Given the description of an element on the screen output the (x, y) to click on. 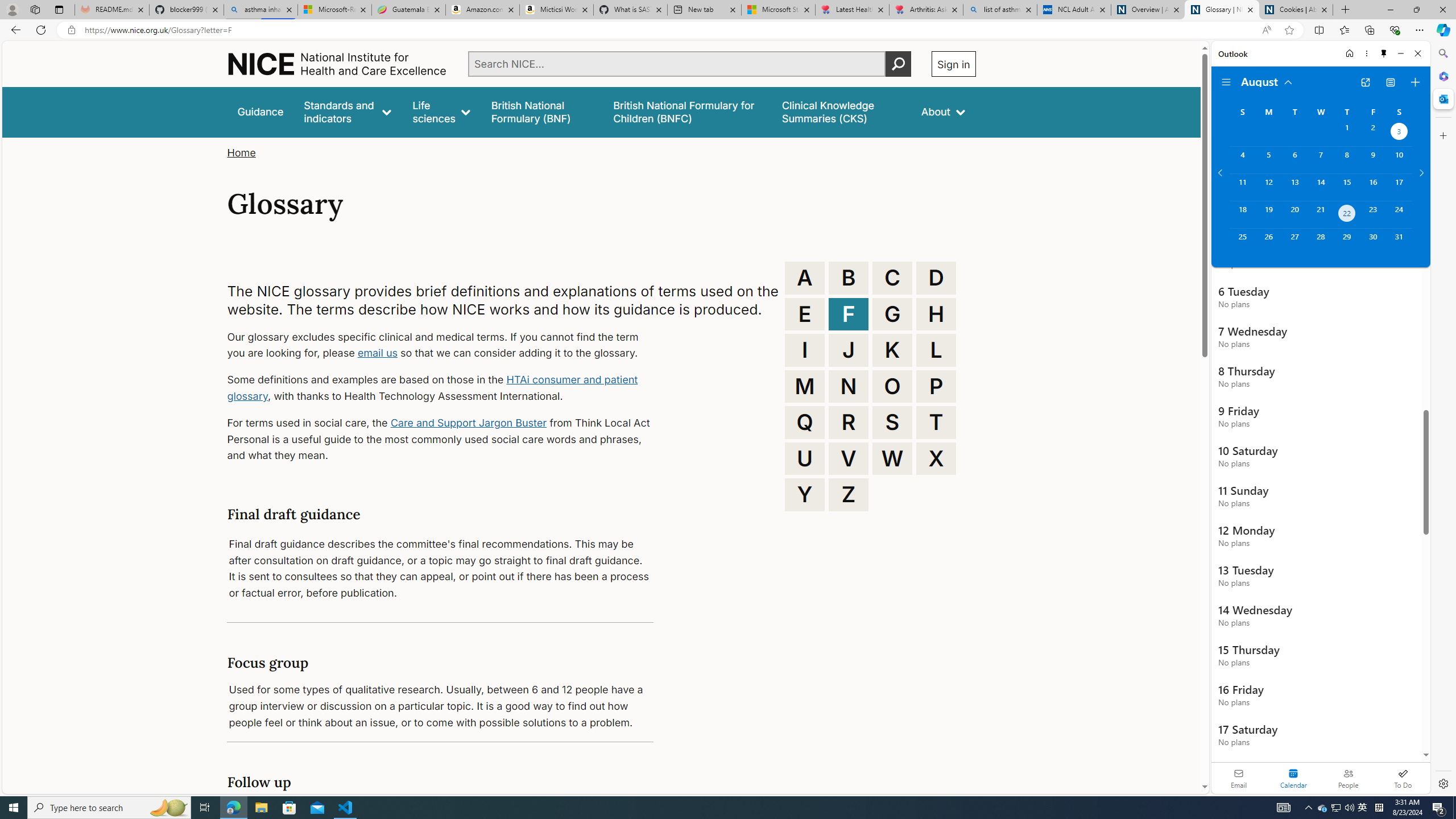
F (848, 313)
Z (848, 494)
G (892, 313)
Wednesday, August 7, 2024.  (1320, 159)
Care and Support Jargon Buster (468, 422)
Sunday, August 11, 2024.  (1242, 186)
Wednesday, August 28, 2024.  (1320, 241)
X (935, 458)
A (804, 277)
B (848, 277)
